Given the description of an element on the screen output the (x, y) to click on. 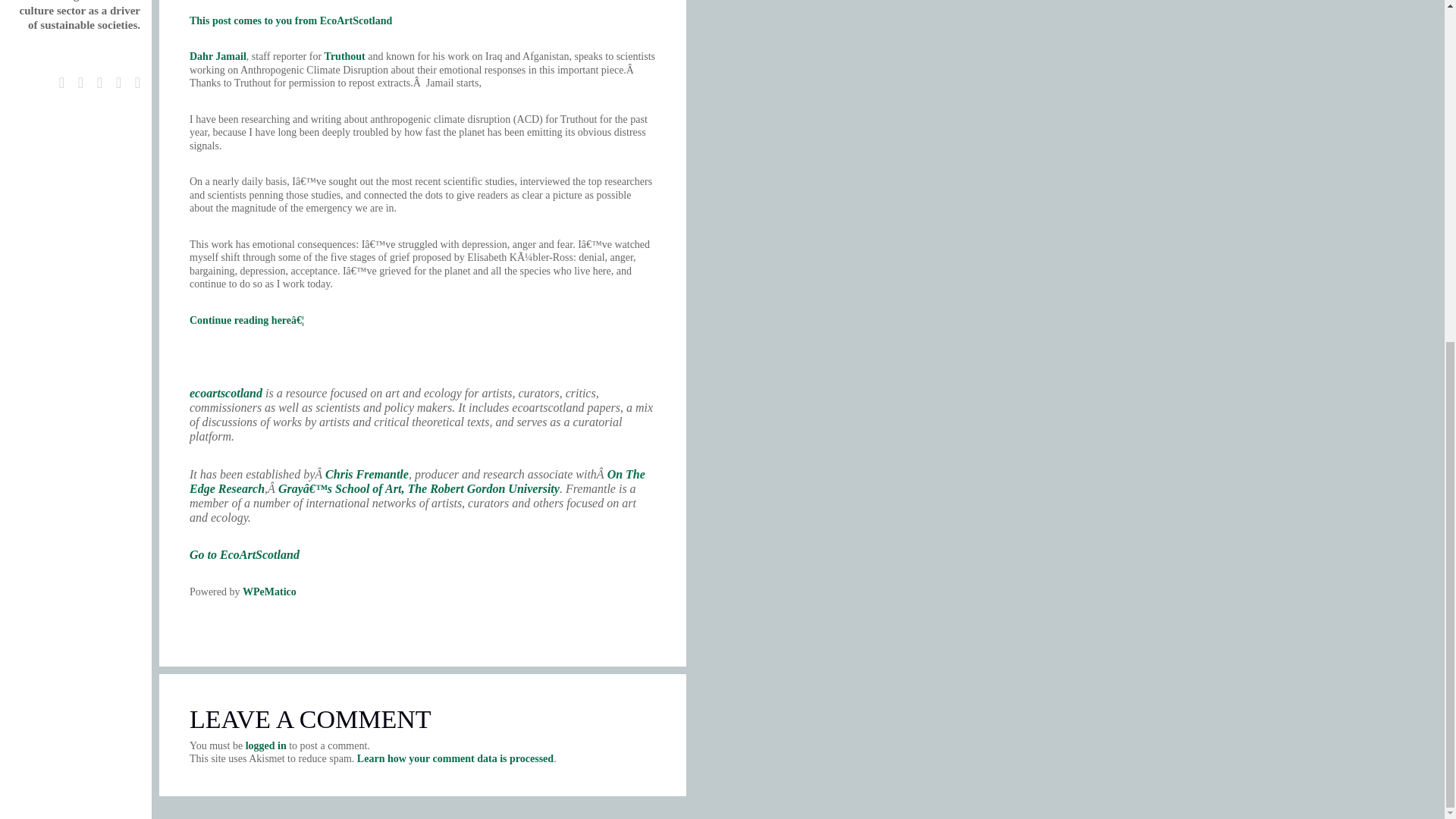
ecoartscotland (225, 392)
This post comes to you from EcoArtScotland (290, 20)
Truthout (344, 56)
Dahr Jamail (217, 56)
Chris Fremantle (366, 473)
On The Edge Research (417, 481)
